Given the description of an element on the screen output the (x, y) to click on. 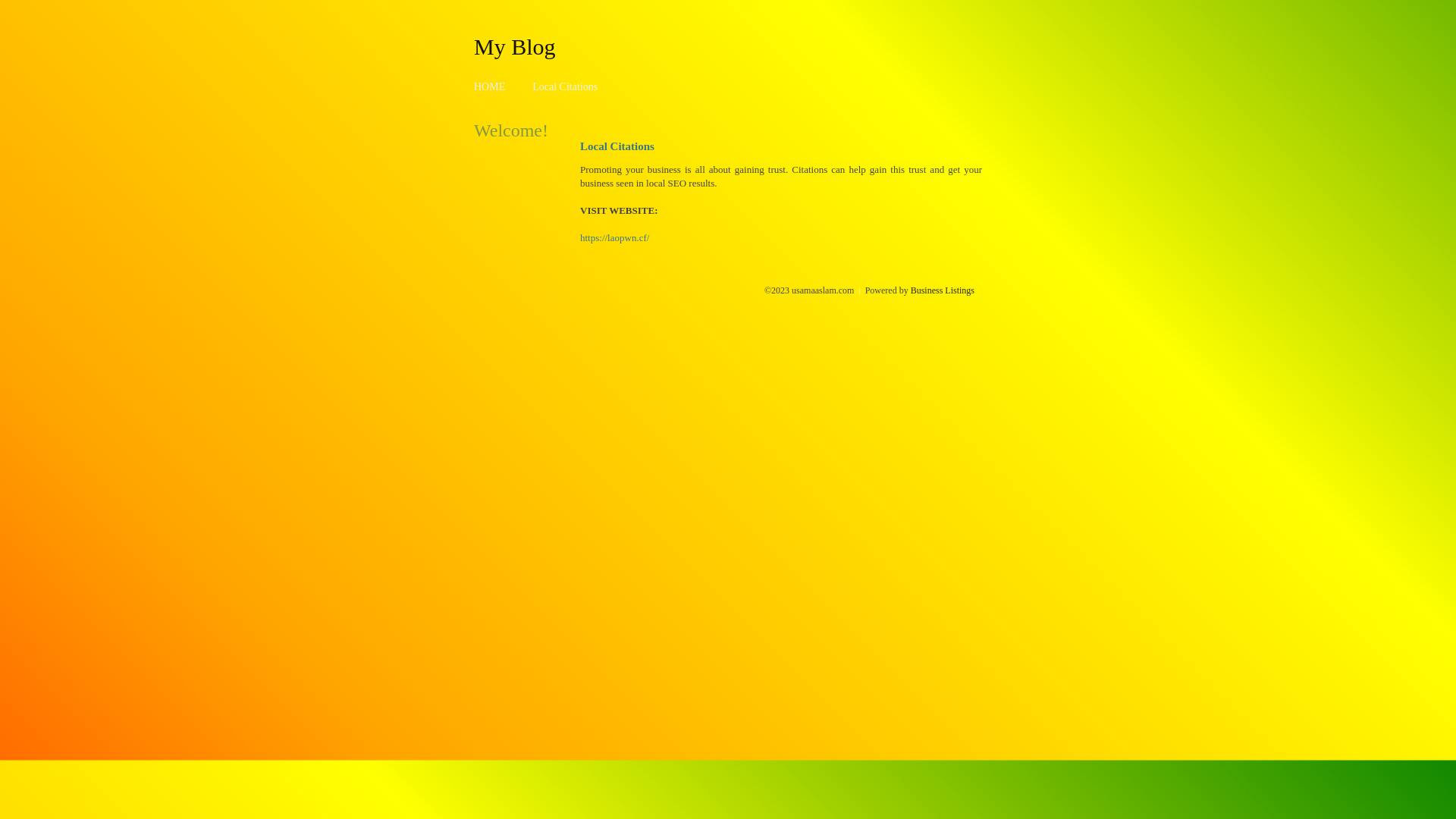
Local Citations Element type: text (564, 86)
My Blog Element type: text (514, 46)
Business Listings Element type: text (942, 290)
HOME Element type: text (489, 86)
https://laopwn.cf/ Element type: text (614, 237)
